Given the description of an element on the screen output the (x, y) to click on. 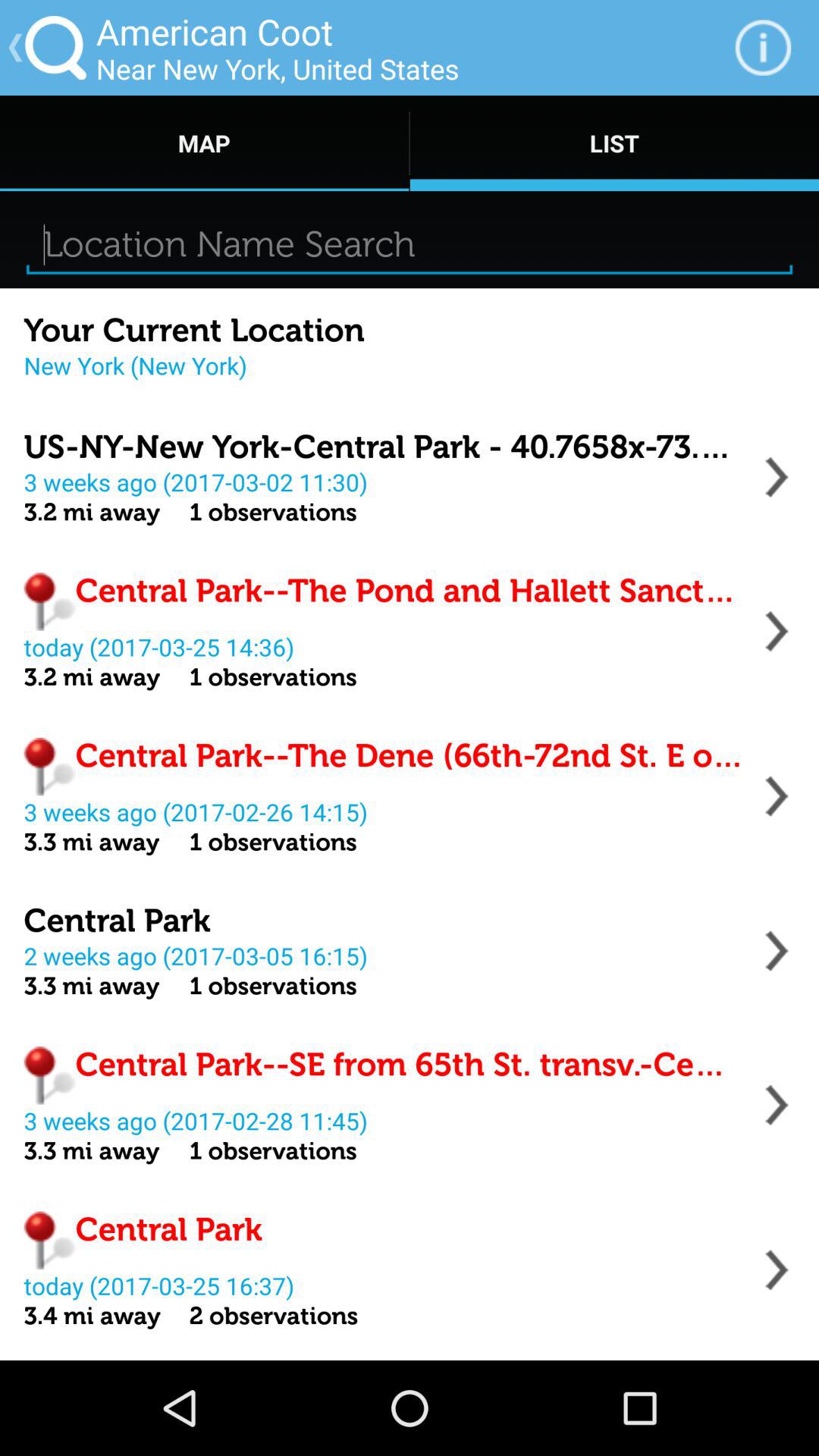
launch the icon above the 3 weeks ago icon (384, 446)
